Given the description of an element on the screen output the (x, y) to click on. 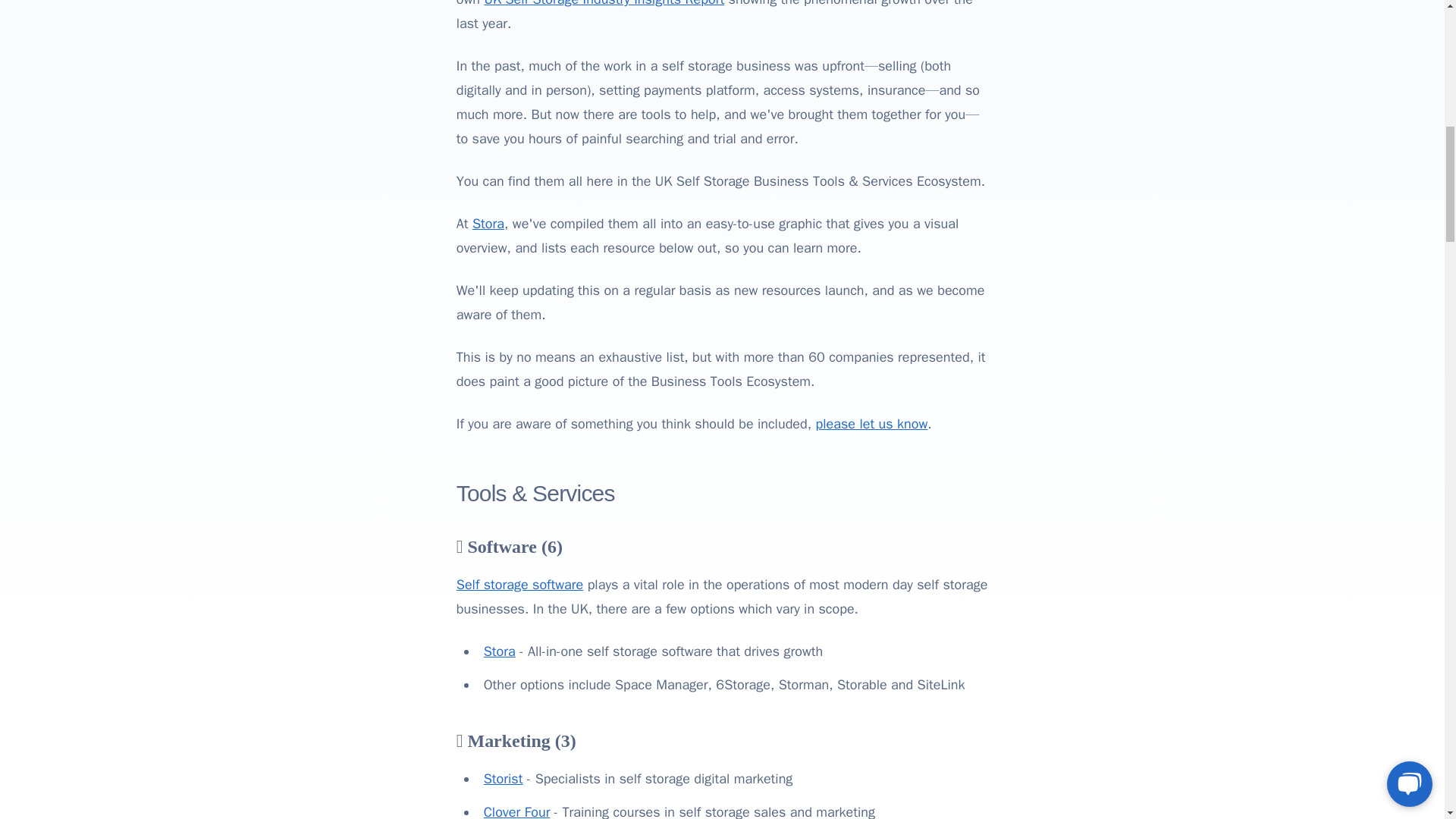
CloverFour (516, 811)
Stora Self Storage Software (499, 651)
Stora homepage (487, 223)
Ecosystem recommendation (871, 423)
Storist (502, 778)
